Given the description of an element on the screen output the (x, y) to click on. 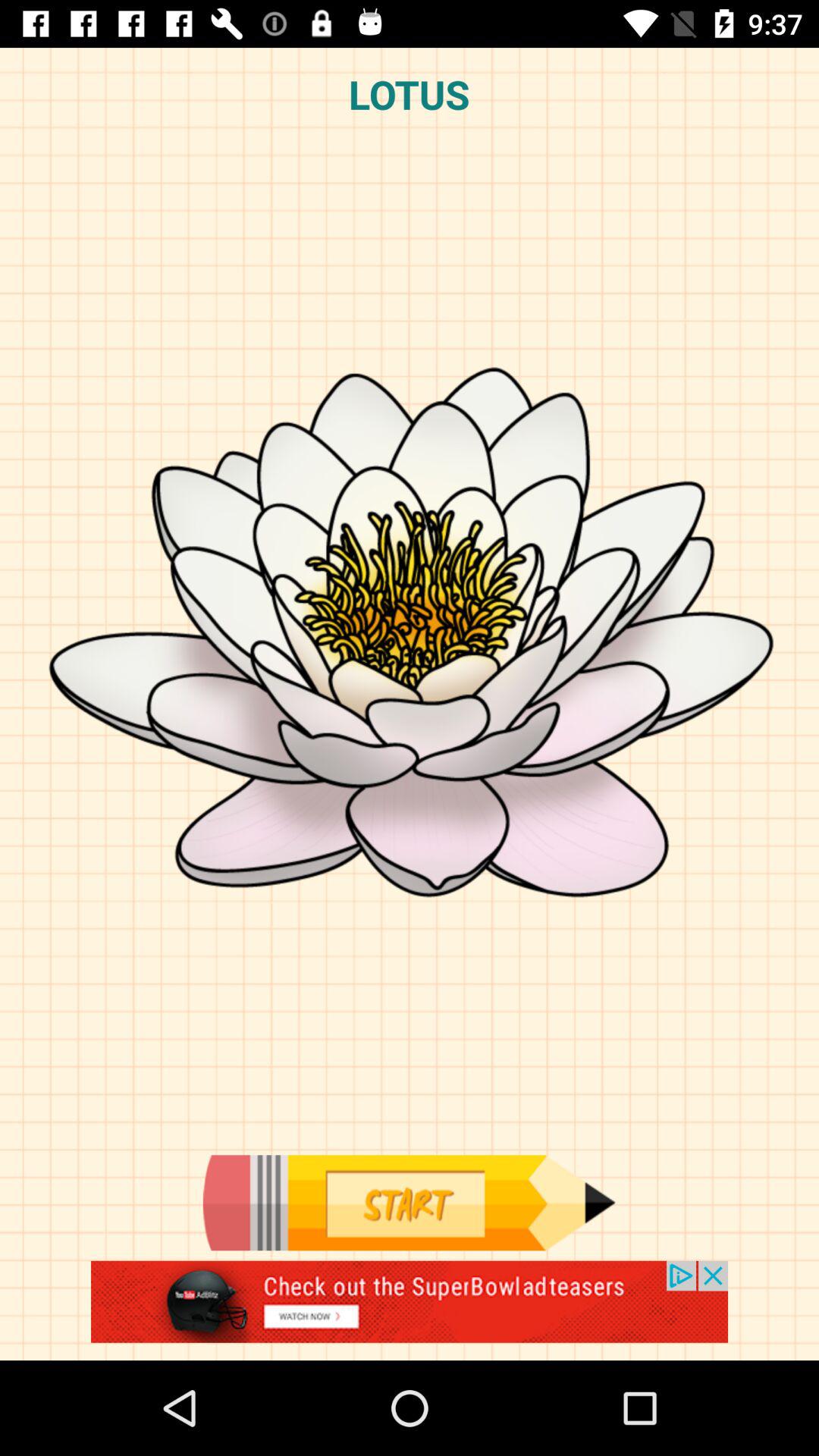
go to the advertisement page (409, 1310)
